Given the description of an element on the screen output the (x, y) to click on. 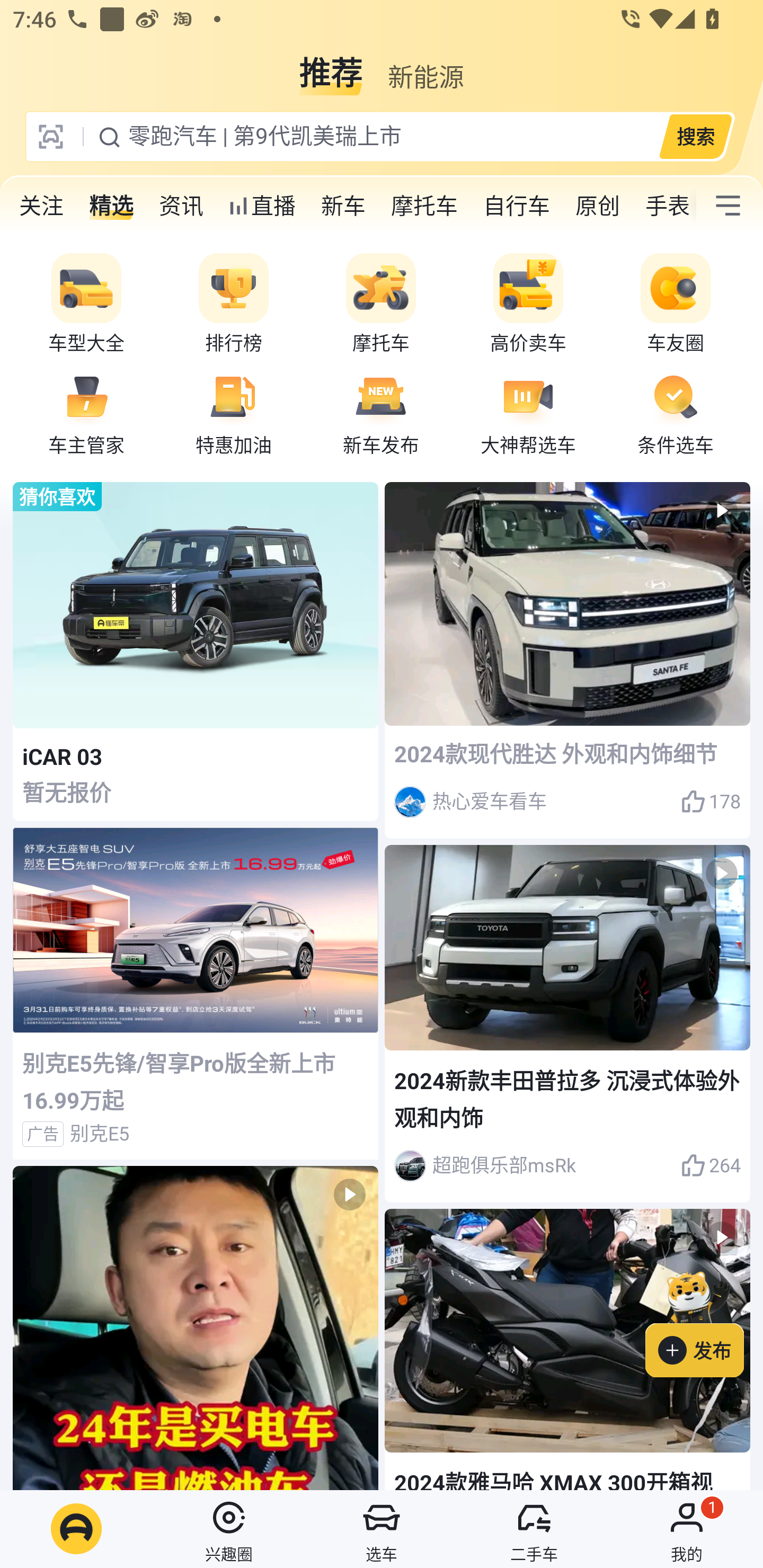
推荐 (330, 65)
新能源 (425, 65)
搜索 (695, 136)
关注 (41, 205)
精选 (111, 205)
资讯 (180, 205)
直播 (261, 205)
新车 (343, 205)
摩托车 (424, 205)
自行车 (516, 205)
原创 (597, 205)
手表 (663, 205)
 (727, 205)
车型大全 (86, 303)
排行榜 (233, 303)
摩托车 (380, 303)
高价卖车 (528, 303)
车友圈 (675, 303)
车主管家 (86, 412)
特惠加油 (233, 412)
新车发布 (380, 412)
大神帮选车 (528, 412)
条件选车 (675, 412)
猜你喜欢 iCAR 03 暂无报价 (195, 651)
 2024款现代胜达 外观和内饰细节 热心爱车看车 178 (567, 659)
178 (710, 801)
别克E5先锋/智享Pro版全新上市 16.99万起 广告 别克E5 (195, 993)
 2024新款丰田普拉多 沉浸式体验外观和内饰 超跑俱乐部msRk 264 (567, 1023)
264 (710, 1165)
 (195, 1327)
 2024款雅马哈 XMAX 300开箱视频，侧脸太帅了 (567, 1348)
发布 (704, 1320)
 兴趣圈 (228, 1528)
 选车 (381, 1528)
 二手车 (533, 1528)
 我的 (686, 1528)
